Given the description of an element on the screen output the (x, y) to click on. 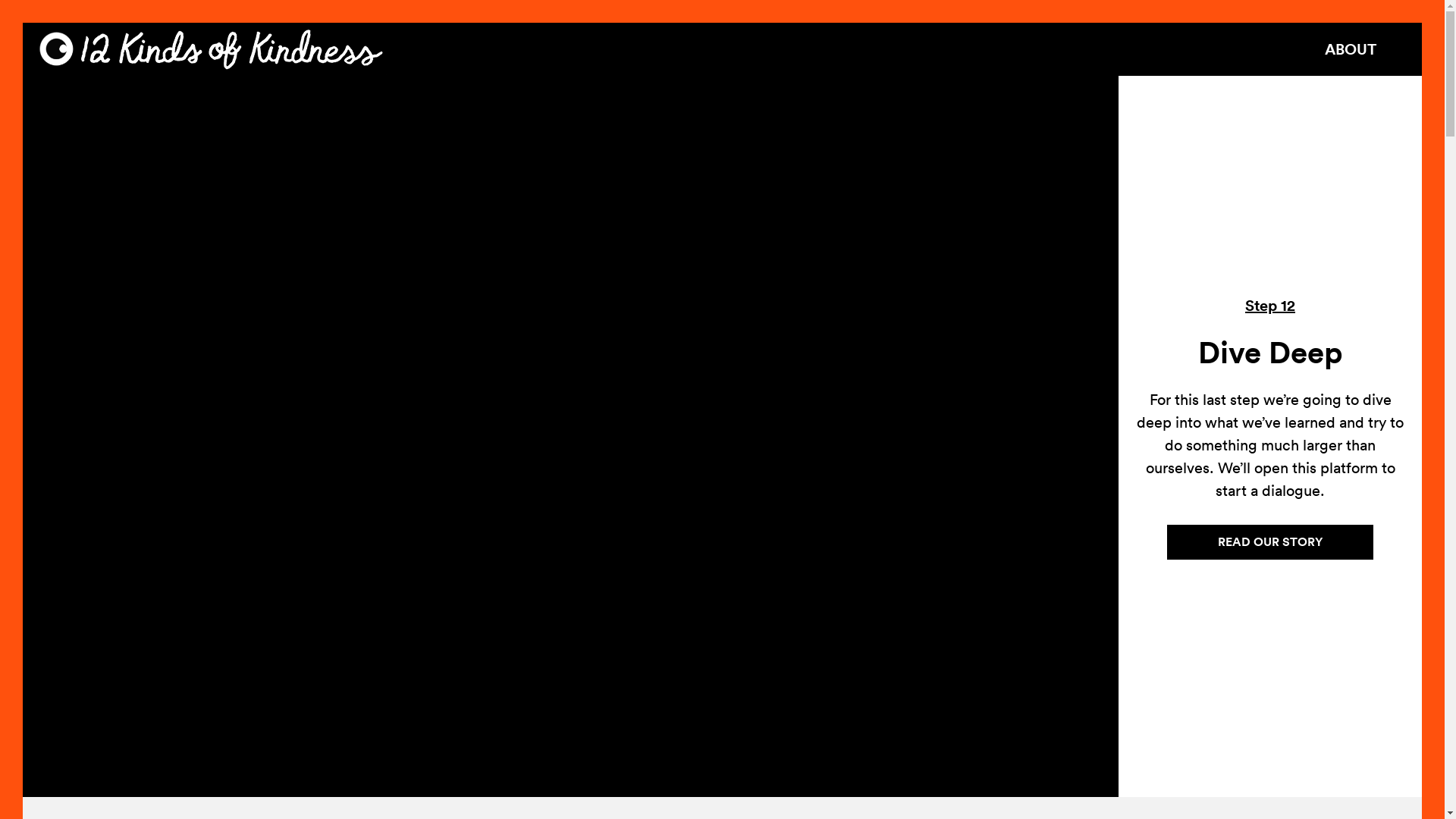
READ OUR STORY Element type: text (1270, 542)
ABOUT Element type: text (1350, 48)
